Given the description of an element on the screen output the (x, y) to click on. 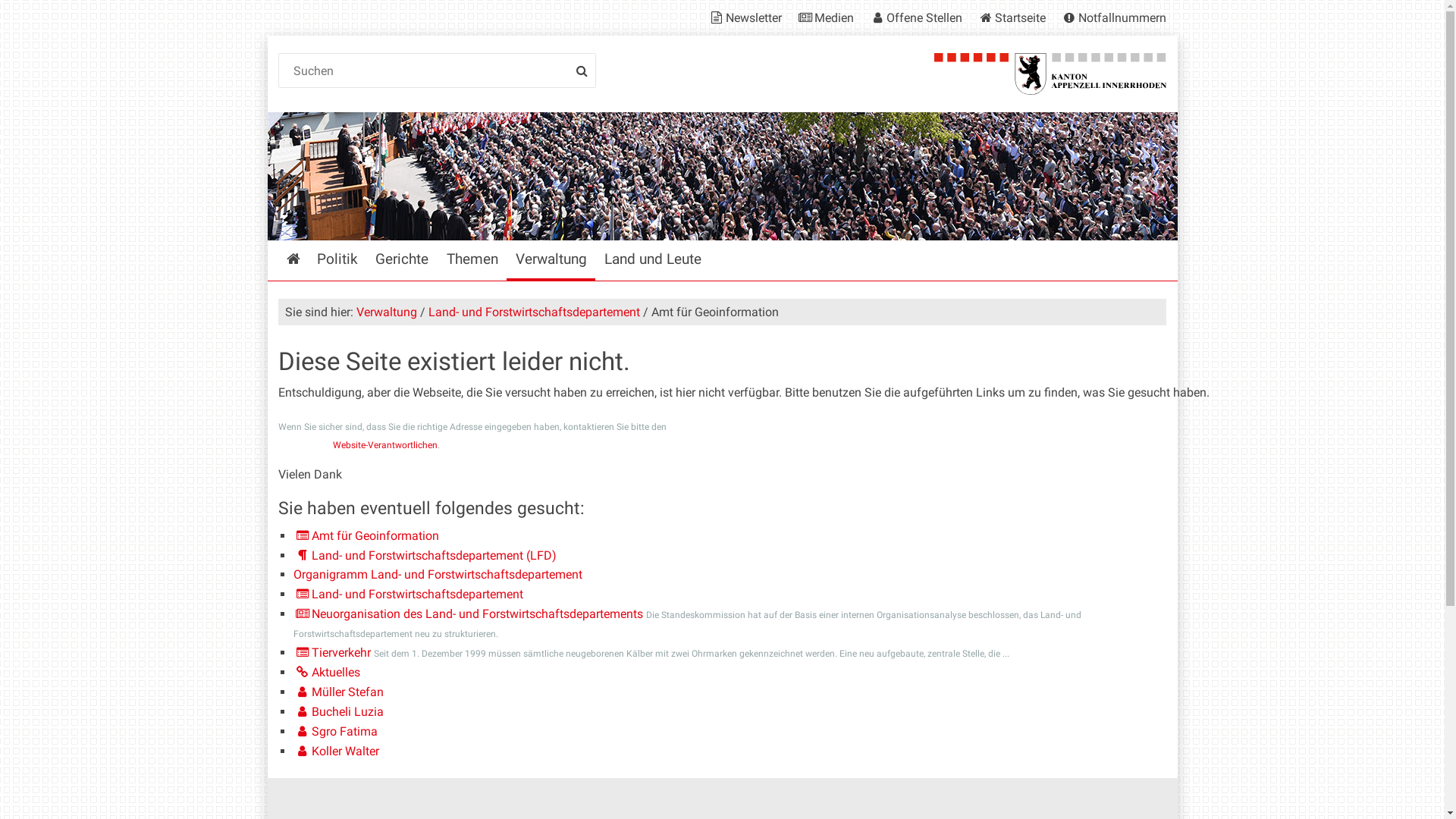
Verwaltung Element type: text (386, 311)
Neuorganisation des Land- und Forstwirtschaftsdepartements Element type: text (468, 613)
Verwaltung Element type: text (550, 260)
Suchen Element type: hover (437, 70)
Website-Verantwortlichen Element type: text (384, 444)
Offene Stellen Element type: text (914, 17)
Land- und Forstwirtschaftsdepartement (LFD) Element type: text (424, 555)
Newsletter Element type: text (748, 17)
Organigramm Land- und Forstwirtschaftsdepartement Element type: text (437, 574)
Gerichte Element type: text (402, 260)
Politik Element type: text (337, 260)
Tierverkehr Element type: text (331, 652)
Land- und Forstwirtschaftsdepartement Element type: text (408, 593)
Startseite Element type: text (293, 260)
Land und Leute Element type: text (652, 260)
Notfallnummern Element type: text (1110, 17)
Koller Walter Element type: text (336, 750)
Themen Element type: text (471, 260)
Aktuelles Element type: text (326, 672)
Land- und Forstwirtschaftsdepartement Element type: text (534, 311)
Bucheli Luzia Element type: text (338, 711)
Sgro Fatima Element type: text (335, 731)
Medien Element type: text (824, 17)
Startseite Element type: text (1011, 17)
